Given the description of an element on the screen output the (x, y) to click on. 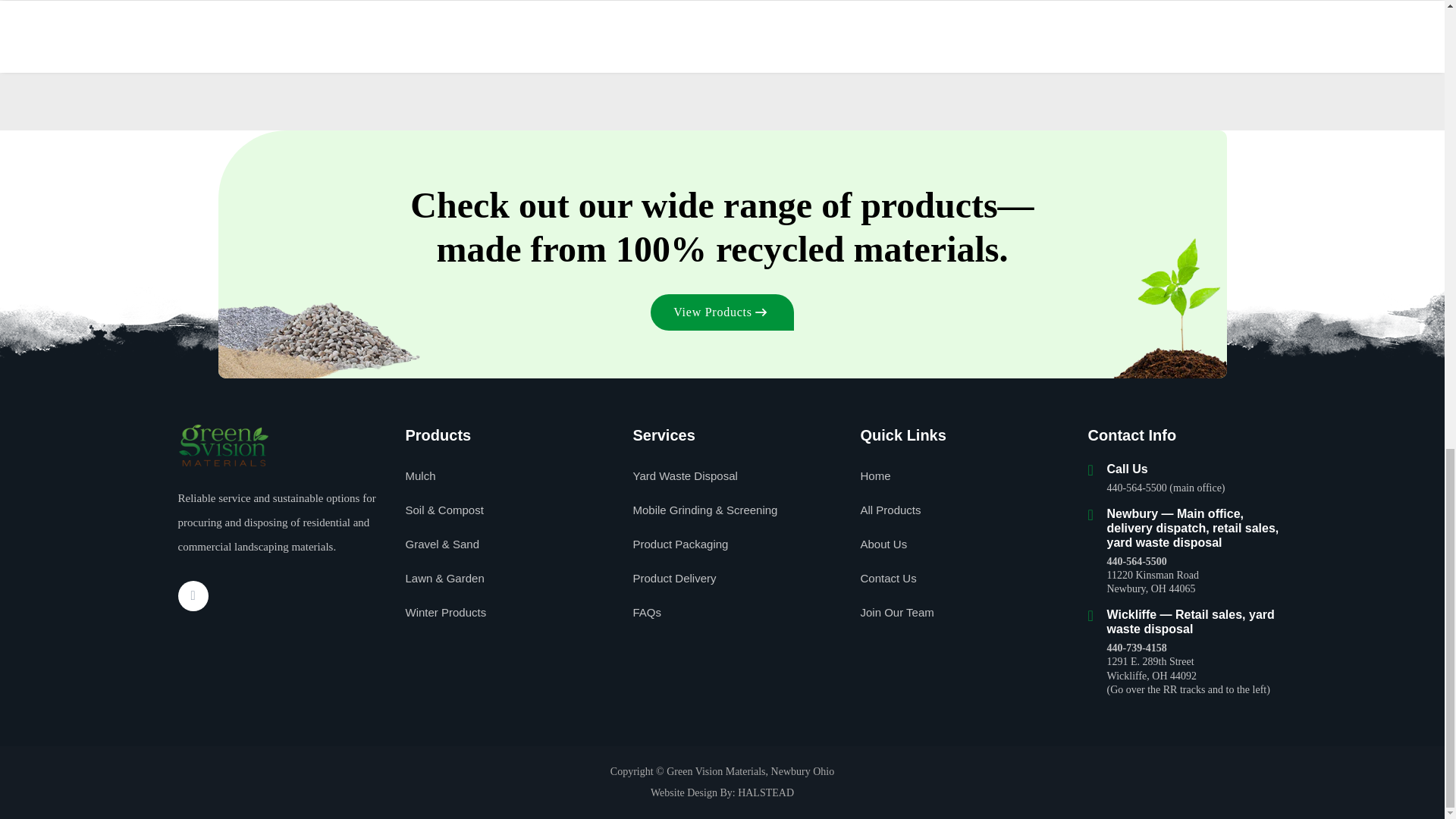
tel:440-564-5500 (1136, 561)
tel:440-739-4158 (1136, 647)
